Given the description of an element on the screen output the (x, y) to click on. 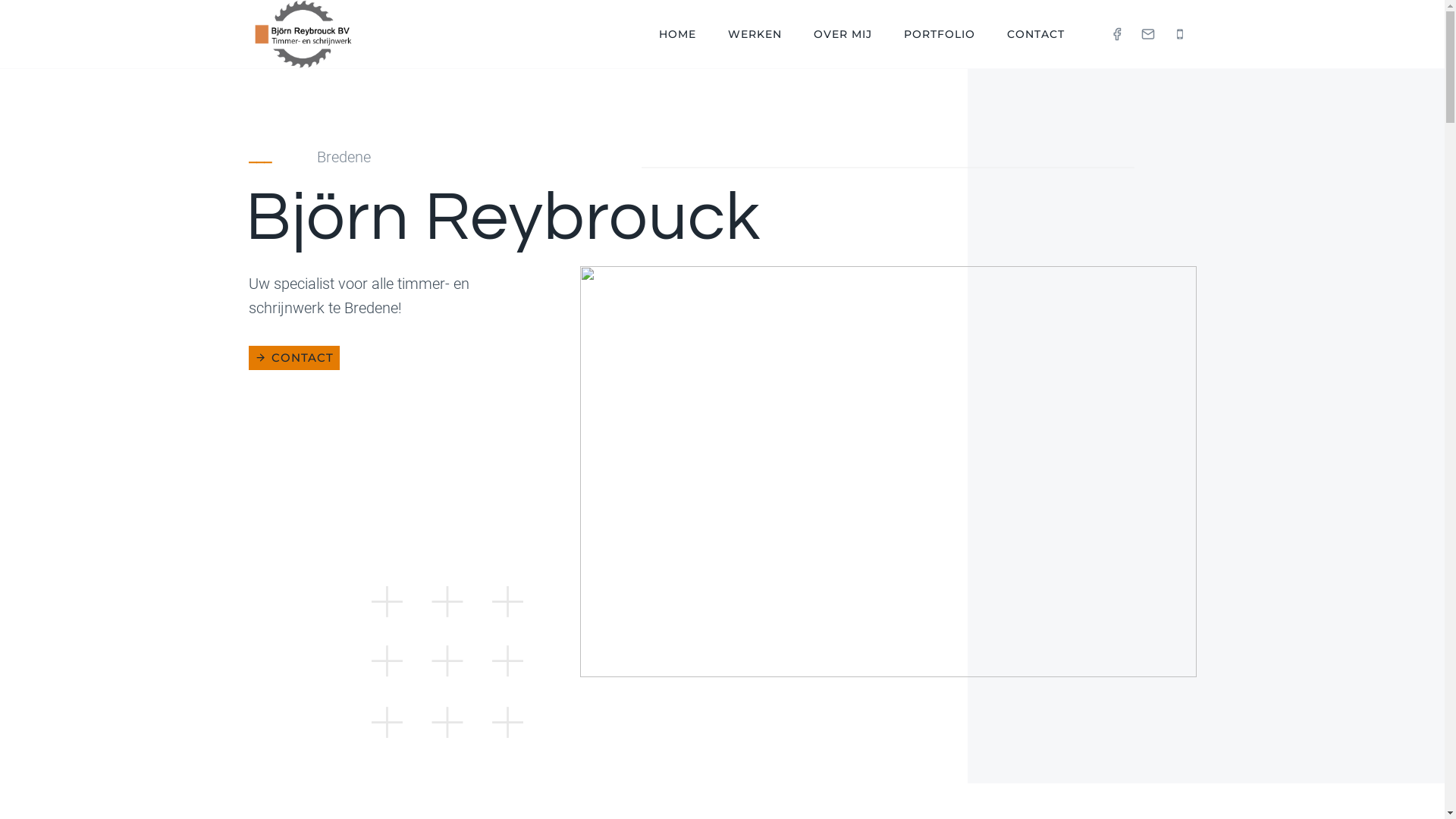
WERKEN Element type: text (754, 34)
HOME Element type: text (677, 34)
CONTACT Element type: text (294, 357)
PORTFOLIO Element type: text (939, 34)
CONTACT Element type: text (1035, 34)
OVER MIJ Element type: text (842, 34)
